Given the description of an element on the screen output the (x, y) to click on. 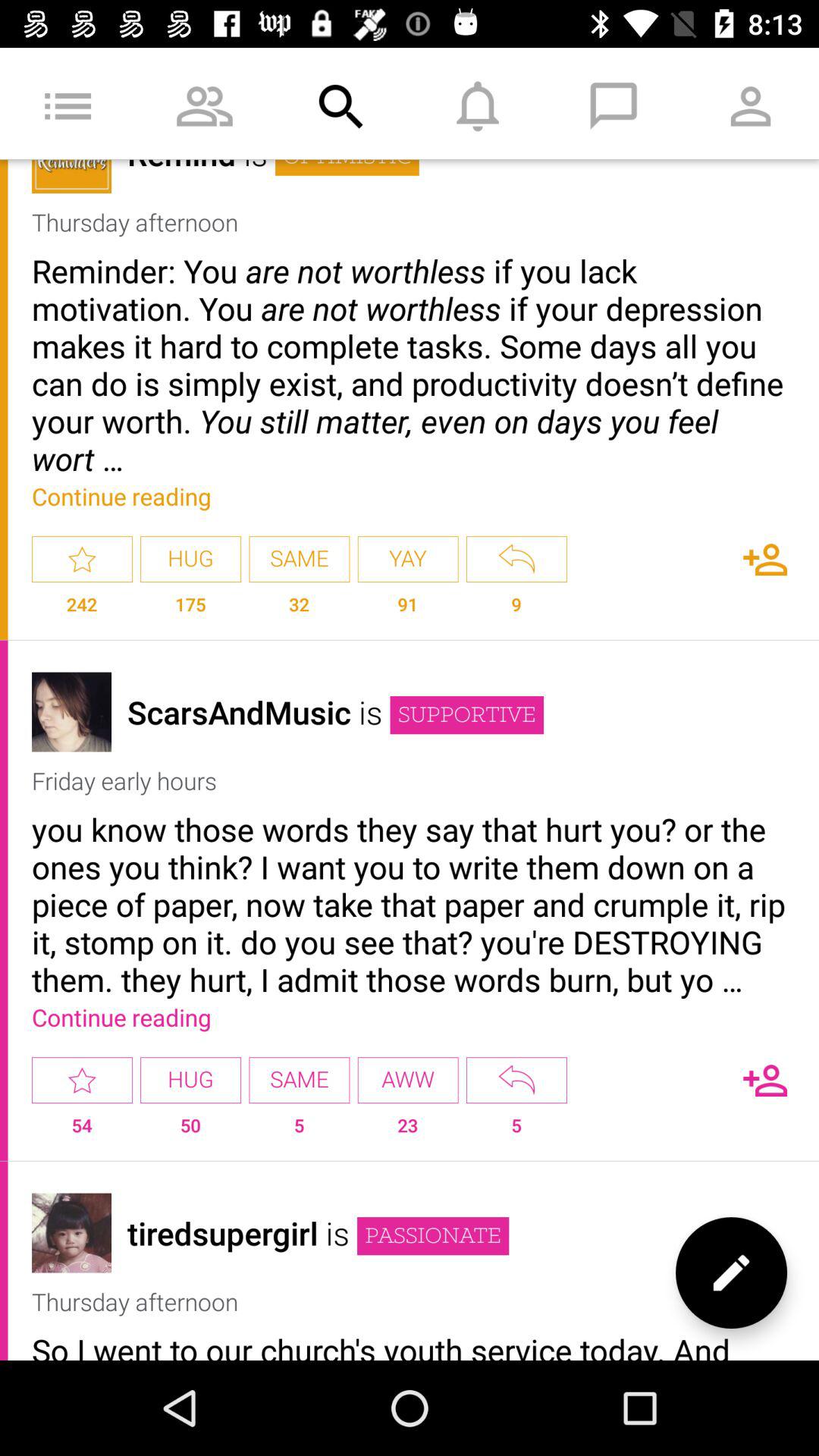
press icon below continue reading item (407, 1080)
